Given the description of an element on the screen output the (x, y) to click on. 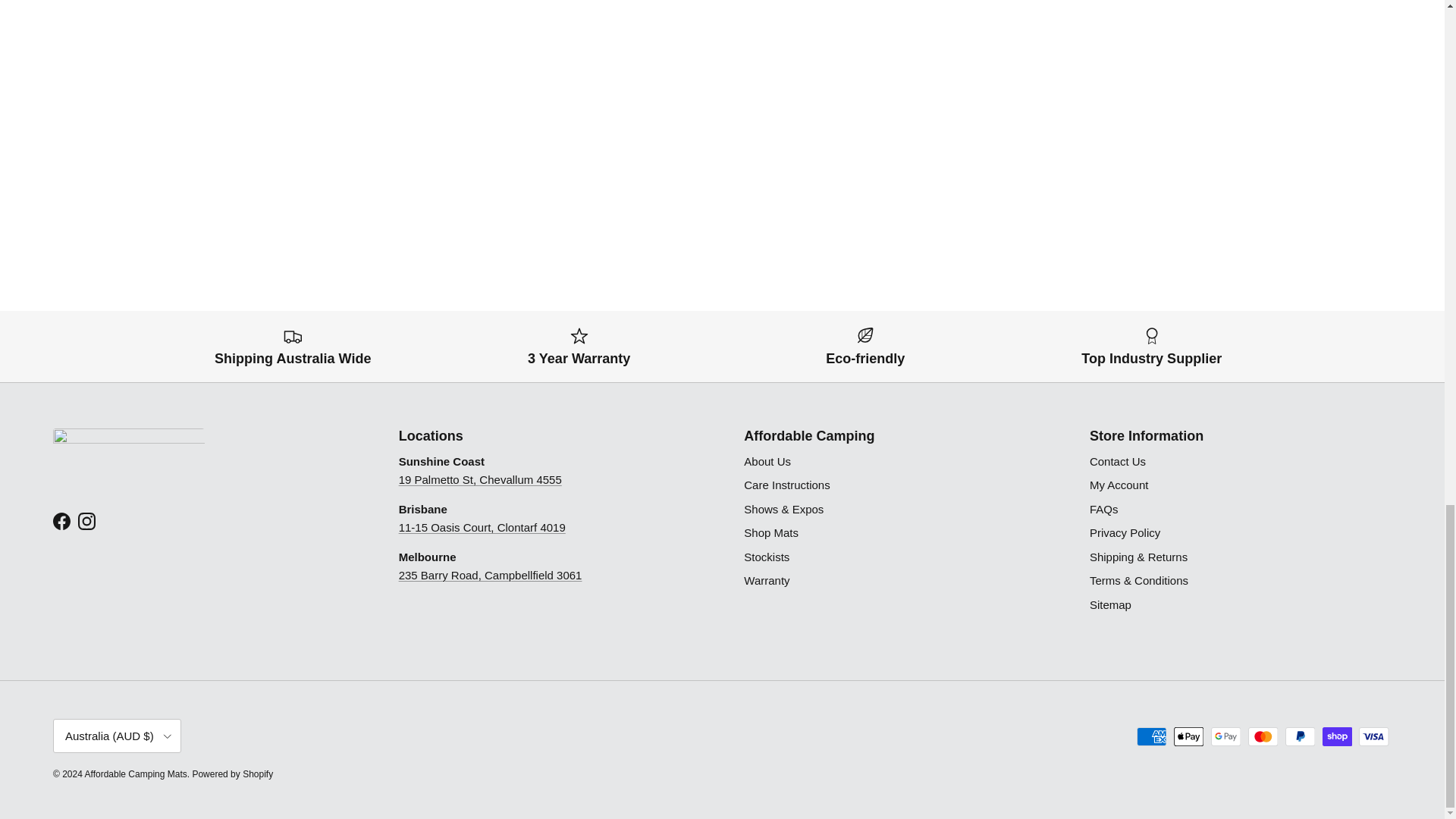
Affordable Camping Mats on Facebook (60, 520)
Mastercard (1262, 736)
Visa (1373, 736)
19 Palmetto St, Chevallum (480, 479)
Affordable Camping Mats on Instagram (87, 520)
PayPal (1299, 736)
Shop Pay (1337, 736)
American Express (1151, 736)
Google Pay (1225, 736)
Apple Pay (1188, 736)
